Given the description of an element on the screen output the (x, y) to click on. 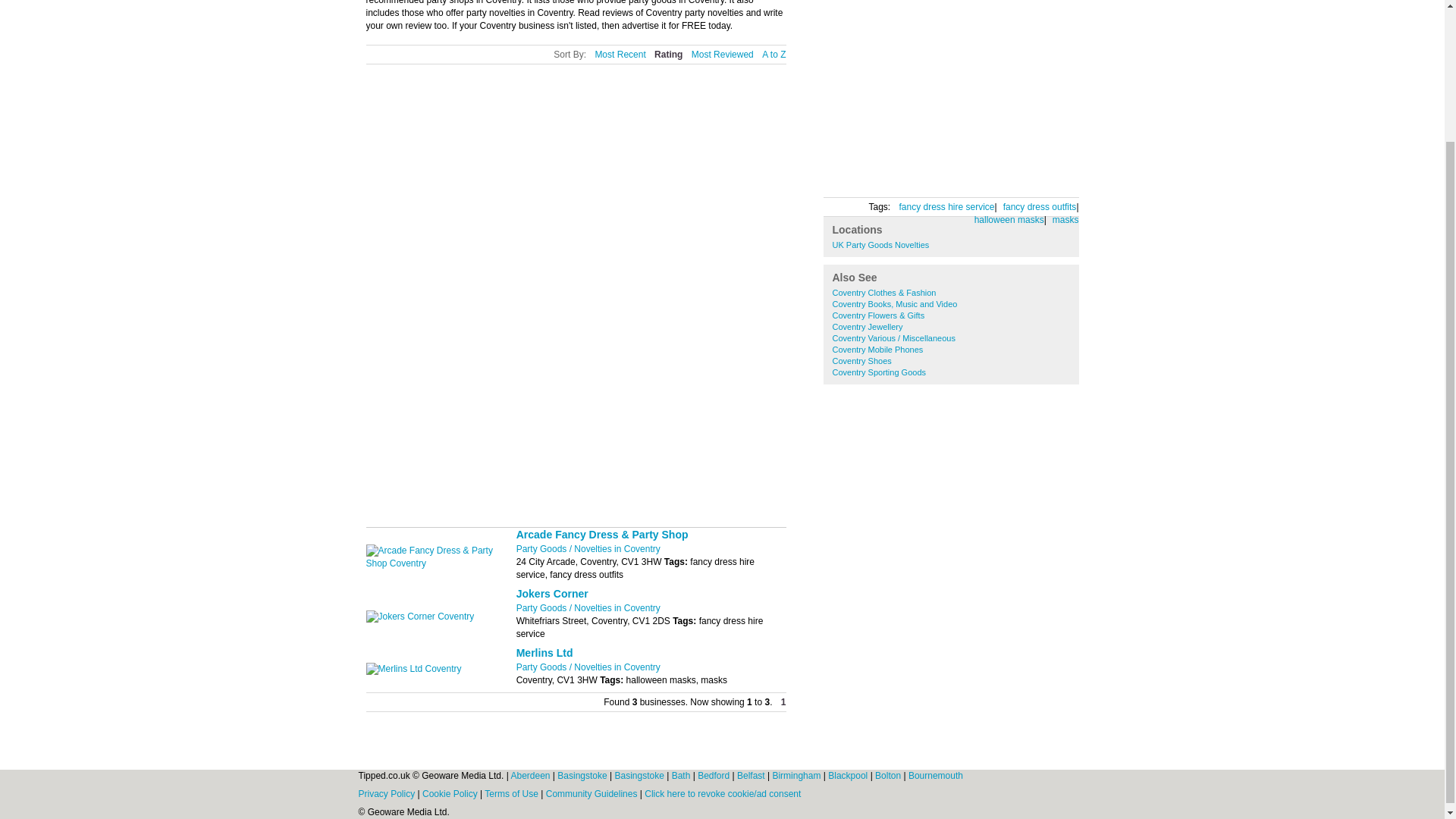
Businesses in Bolton (888, 775)
Businesses in Bath (682, 775)
Businesses in Basingstoke (640, 775)
Coventry Jewellery (867, 326)
Businesses in Basingstoke (583, 775)
Jokers Corner (552, 593)
Coventry Mobile Phones (877, 348)
Coventry Books, Music and Video (895, 303)
A to Z (773, 54)
Add my business for FREE (903, 174)
Add my business for FREE (903, 174)
Businesses in Birmingham (796, 775)
Most Recent (619, 54)
Coventry Shoes (861, 360)
Rating (667, 54)
